Given the description of an element on the screen output the (x, y) to click on. 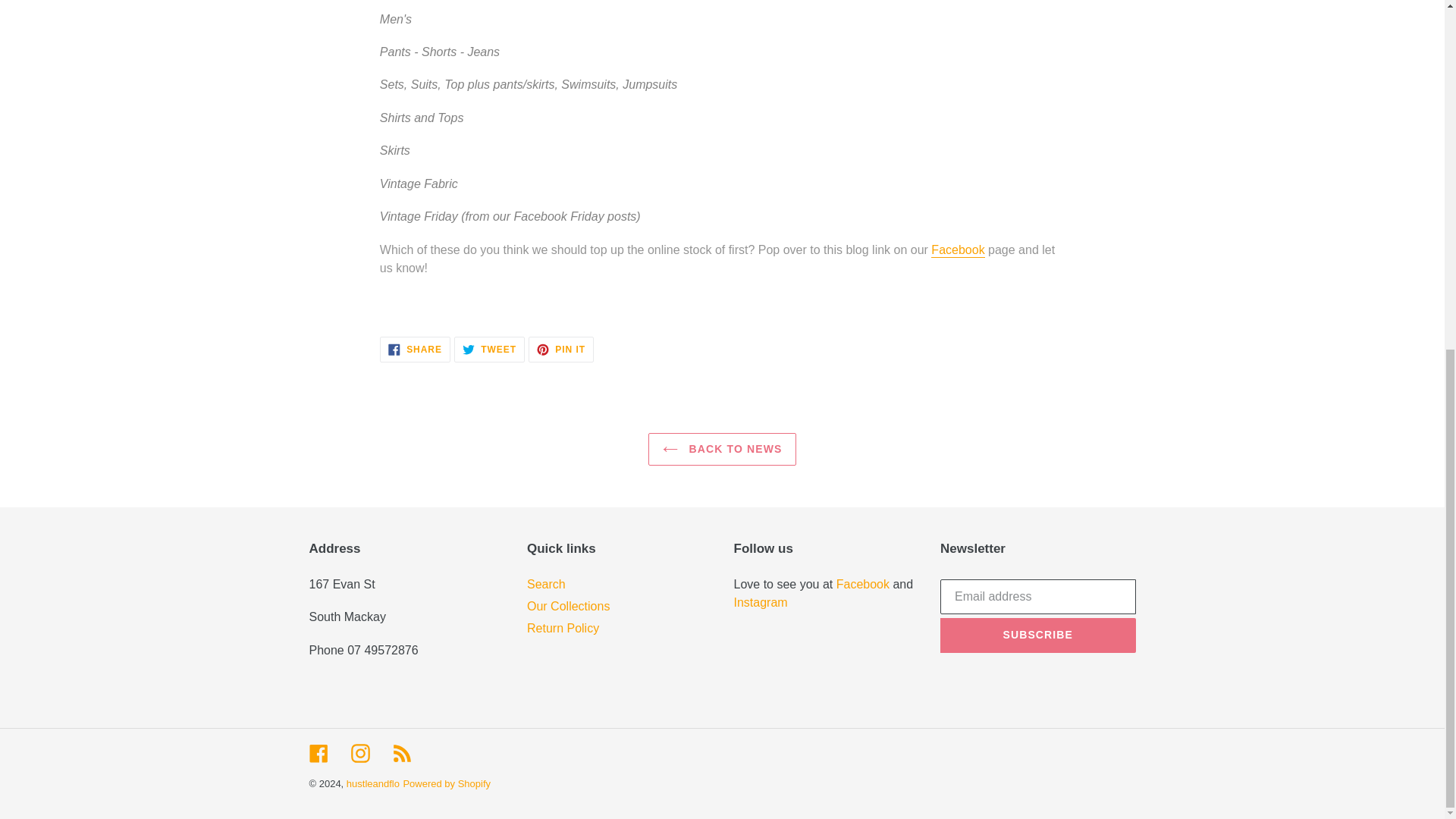
Our Collections (568, 605)
BACK TO NEWS (721, 448)
Facebook (957, 250)
Instagram (760, 602)
Powered by Shopify (446, 783)
Search (561, 349)
Facebook (414, 349)
Instagram (546, 584)
Facebook (957, 250)
Return Policy (489, 349)
SUBSCRIBE (359, 752)
Facebook (864, 584)
